Given the description of an element on the screen output the (x, y) to click on. 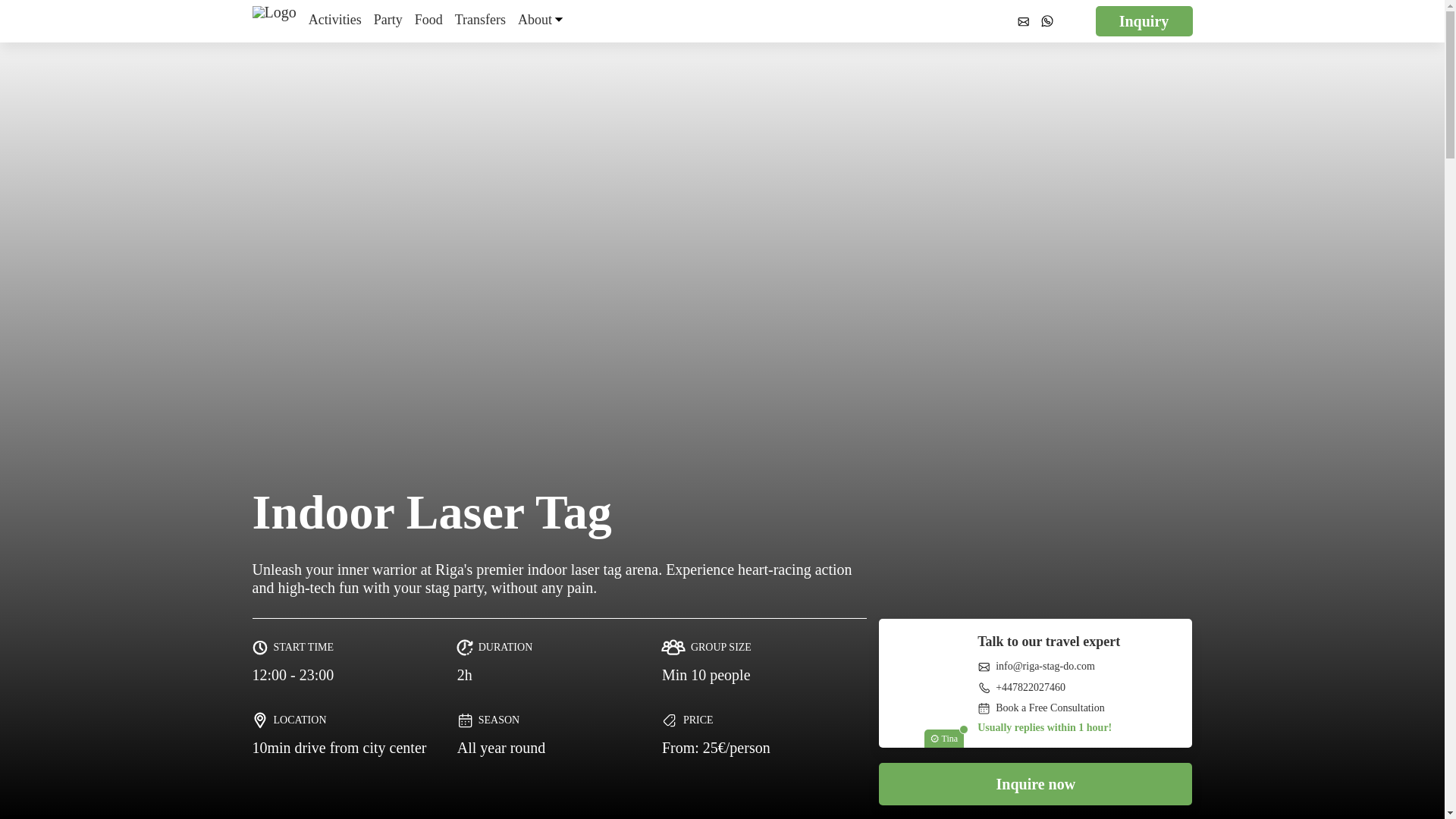
Inquire now (1035, 783)
Book a Free Consultation (1040, 707)
Activities (334, 21)
Transfers (479, 21)
Inquiry (1143, 20)
